Given the description of an element on the screen output the (x, y) to click on. 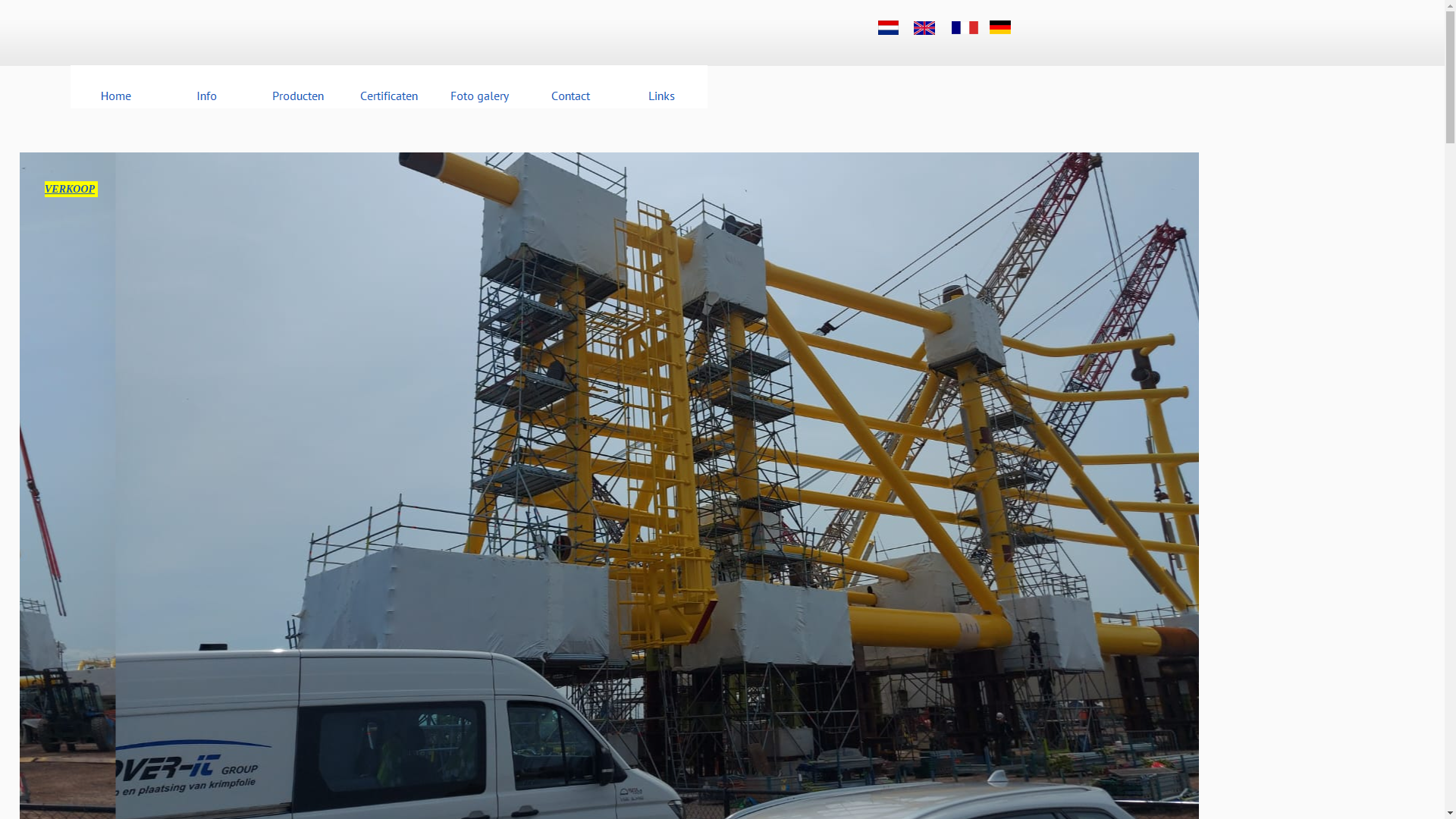
Home Element type: hover (115, 86)
VERKOOP Element type: text (69, 188)
images2 Element type: hover (924, 27)
images3 (2) Element type: hover (964, 27)
Certificaten Element type: hover (388, 86)
Contact Element type: hover (570, 86)
images (2) Element type: hover (888, 27)
Info Element type: hover (206, 86)
Foto galery Element type: hover (479, 86)
Links Element type: hover (661, 86)
images1 Element type: hover (999, 27)
Producten Element type: hover (297, 86)
